Given the description of an element on the screen output the (x, y) to click on. 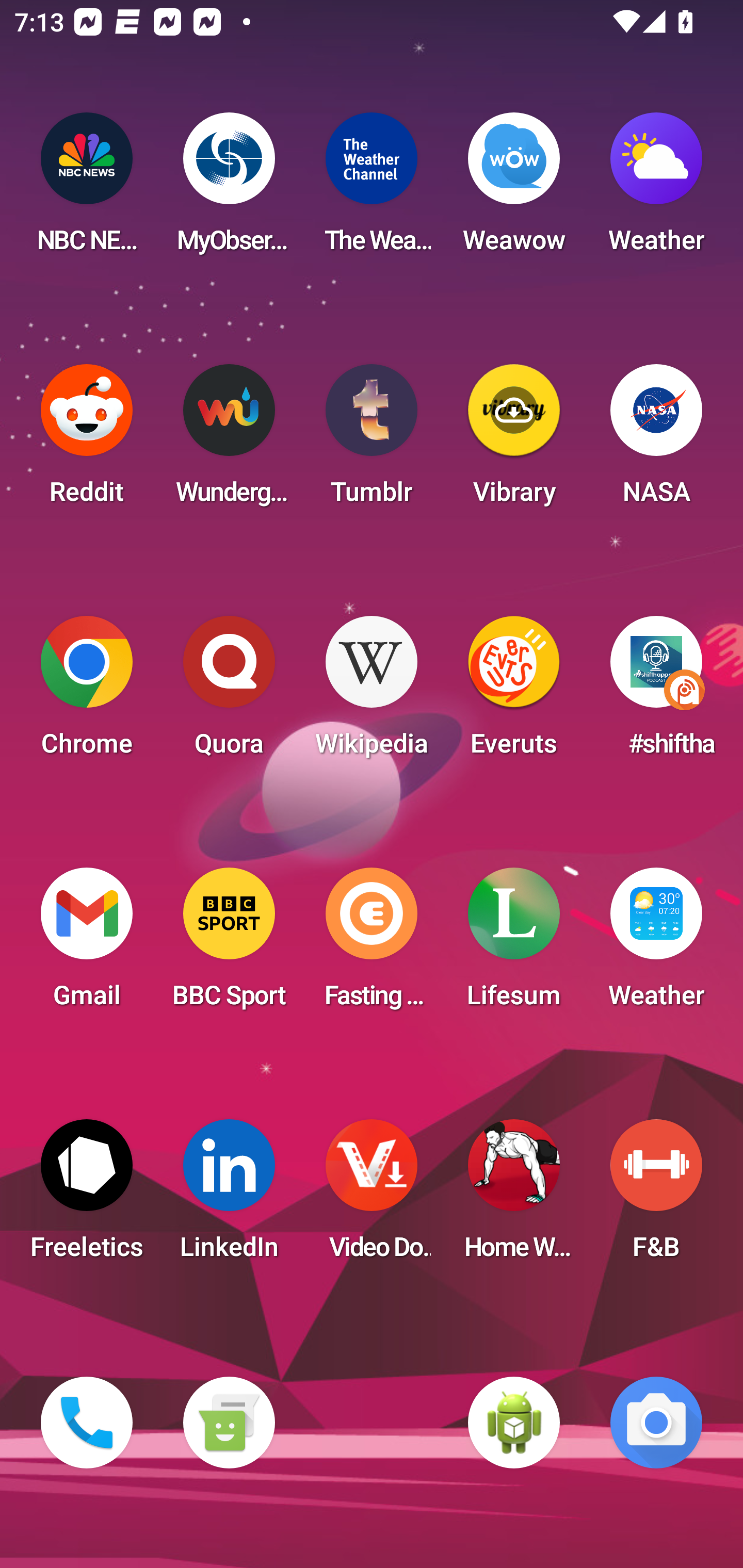
NBC NEWS (86, 188)
MyObservatory (228, 188)
The Weather Channel (371, 188)
Weawow (513, 188)
Weather (656, 188)
Reddit (86, 440)
Wunderground (228, 440)
Tumblr (371, 440)
Vibrary (513, 440)
NASA (656, 440)
Chrome (86, 692)
Quora (228, 692)
Wikipedia (371, 692)
Everuts (513, 692)
#shifthappens in the Digital Workplace Podcast (656, 692)
Gmail (86, 943)
BBC Sport (228, 943)
Fasting Coach (371, 943)
Lifesum (513, 943)
Weather (656, 943)
Freeletics (86, 1195)
LinkedIn (228, 1195)
Video Downloader & Ace Player (371, 1195)
Home Workout (513, 1195)
F&B (656, 1195)
Phone (86, 1422)
Messaging (228, 1422)
WebView Browser Tester (513, 1422)
Camera (656, 1422)
